Given the description of an element on the screen output the (x, y) to click on. 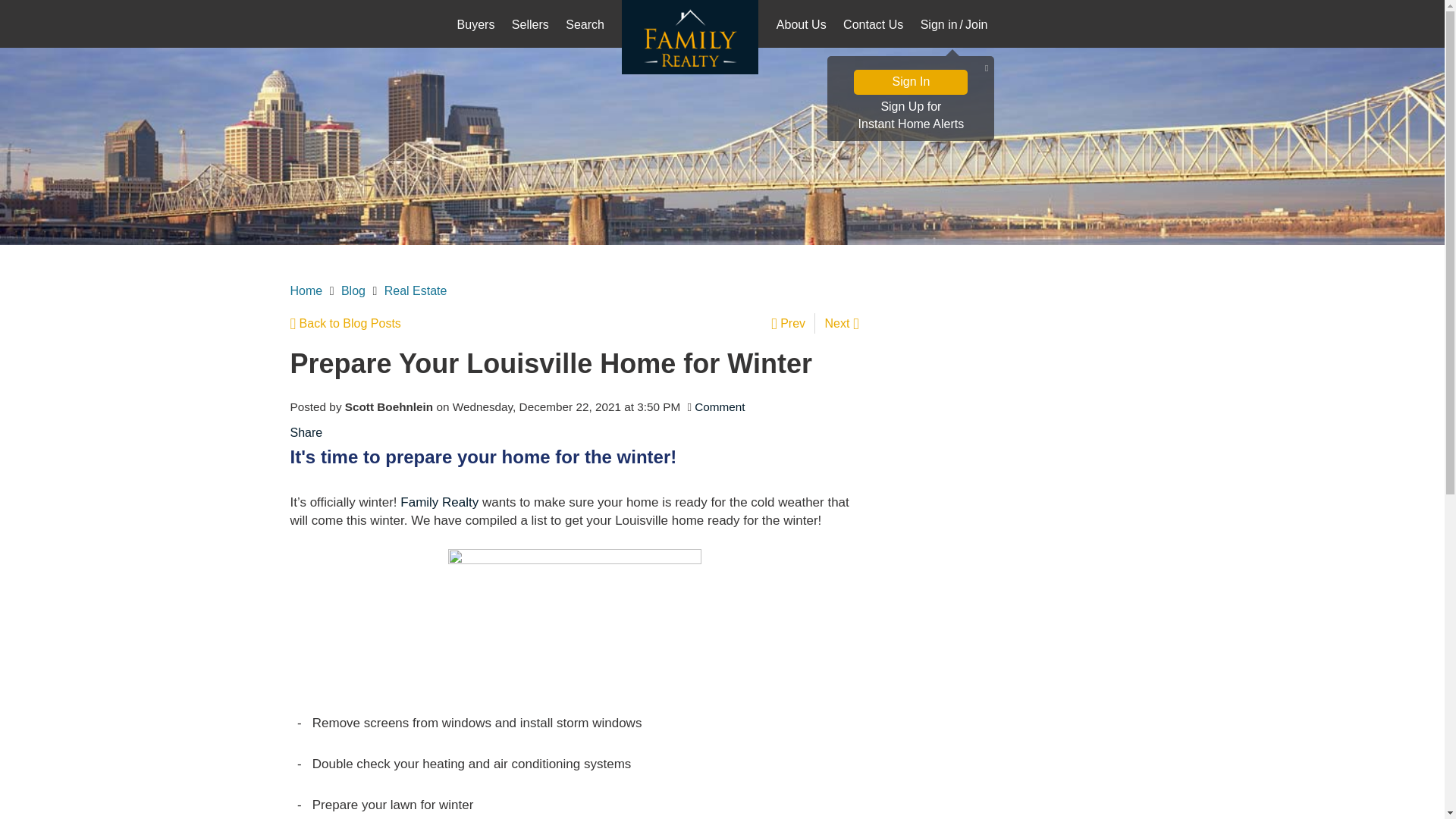
Buyers (475, 25)
Family Realty (439, 502)
Search (910, 116)
Home (585, 25)
Back to Blog Posts (305, 290)
Contact Us (344, 323)
Prev (872, 25)
Comment (793, 322)
Next (719, 406)
